Given the description of an element on the screen output the (x, y) to click on. 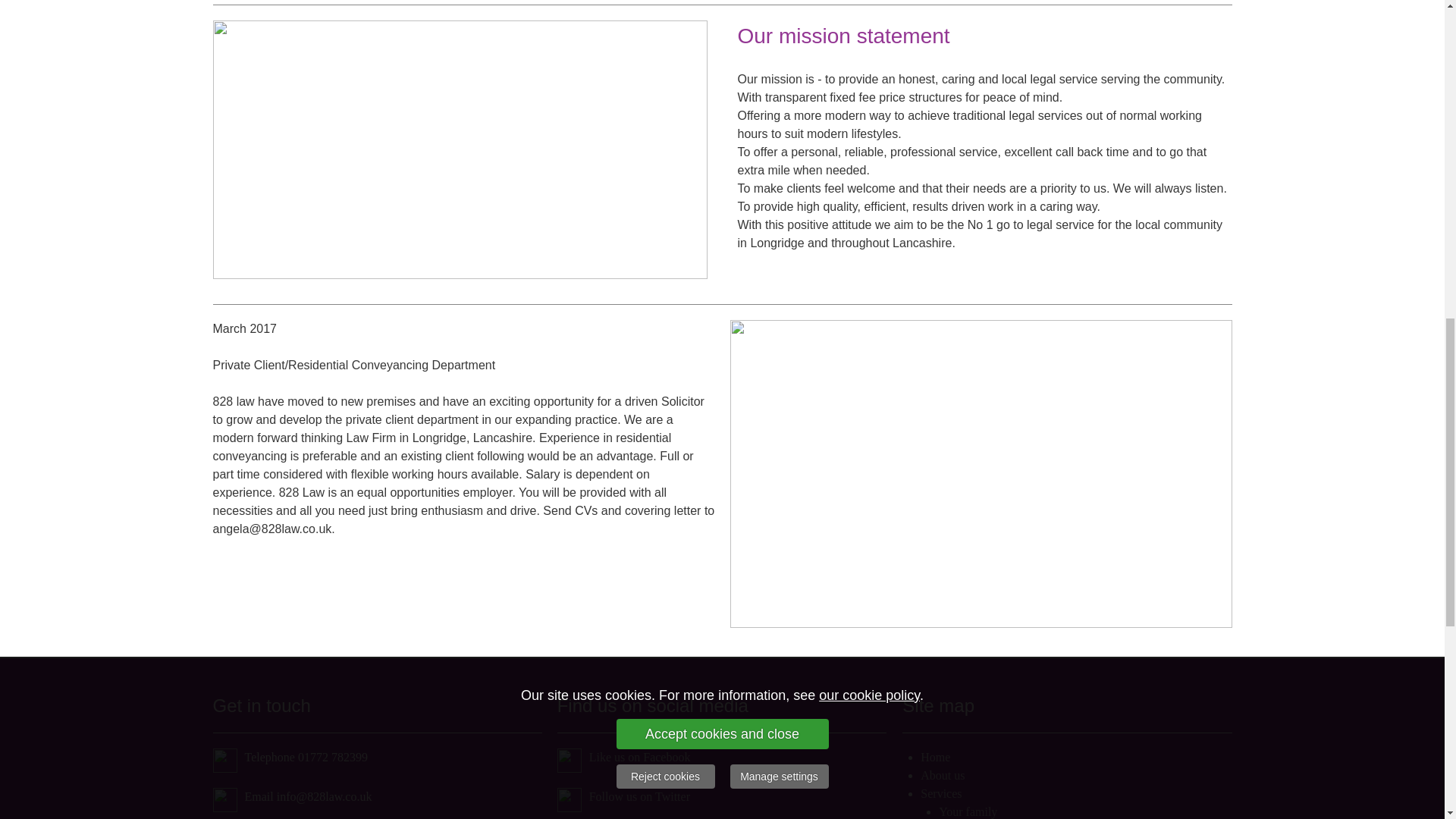
Your family (968, 811)
Home (935, 757)
Follow us on Twitter (639, 796)
About us (941, 775)
Services (940, 793)
Like us on Facebook (639, 757)
